Given the description of an element on the screen output the (x, y) to click on. 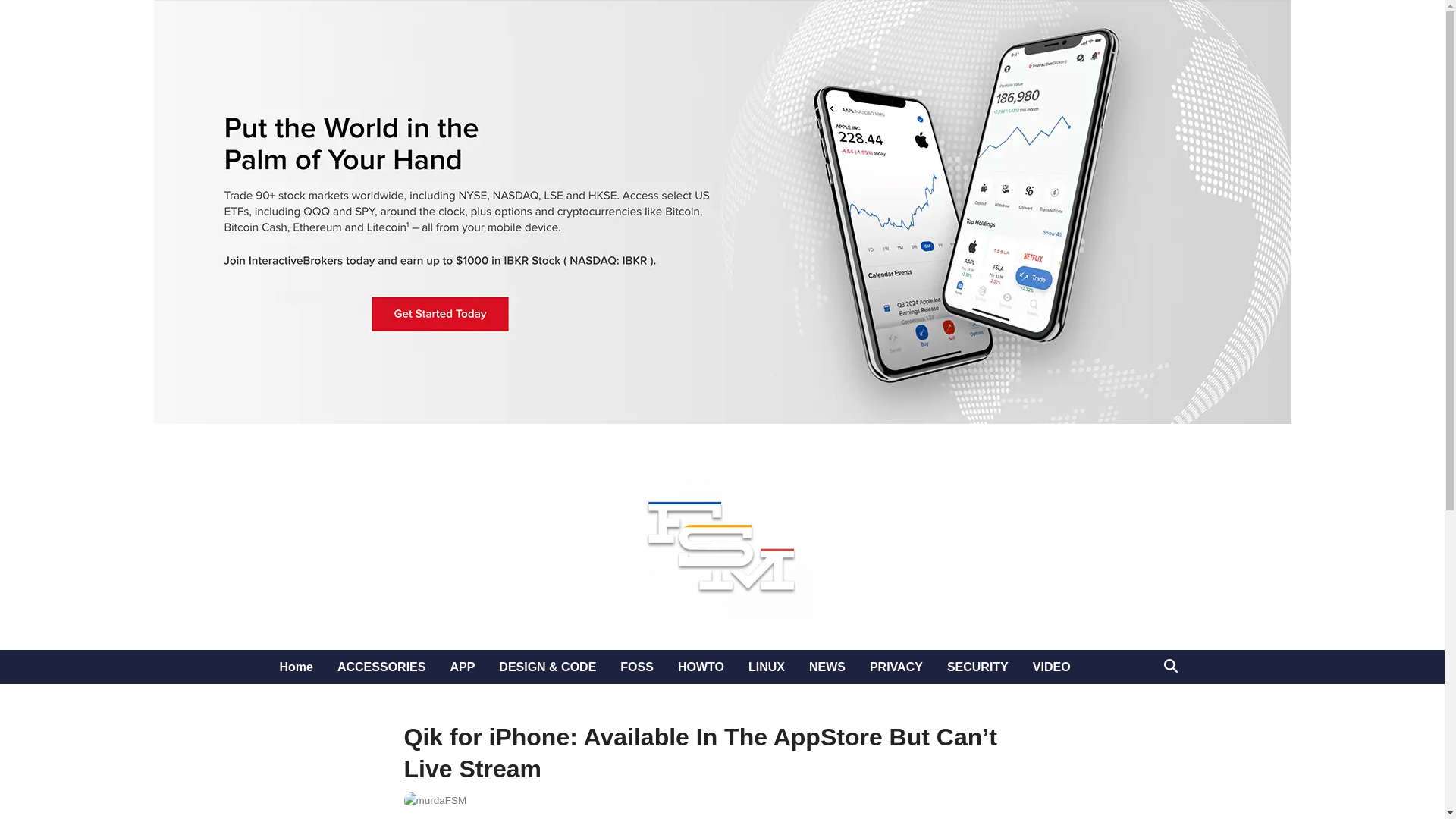
FOSS (636, 666)
APP (462, 666)
Home (295, 666)
PRIVACY (895, 666)
SECURITY (977, 666)
NEWS (826, 666)
ACCESSORIES (381, 666)
VIDEO (1051, 666)
LINUX (766, 666)
HOWTO (700, 666)
